Given the description of an element on the screen output the (x, y) to click on. 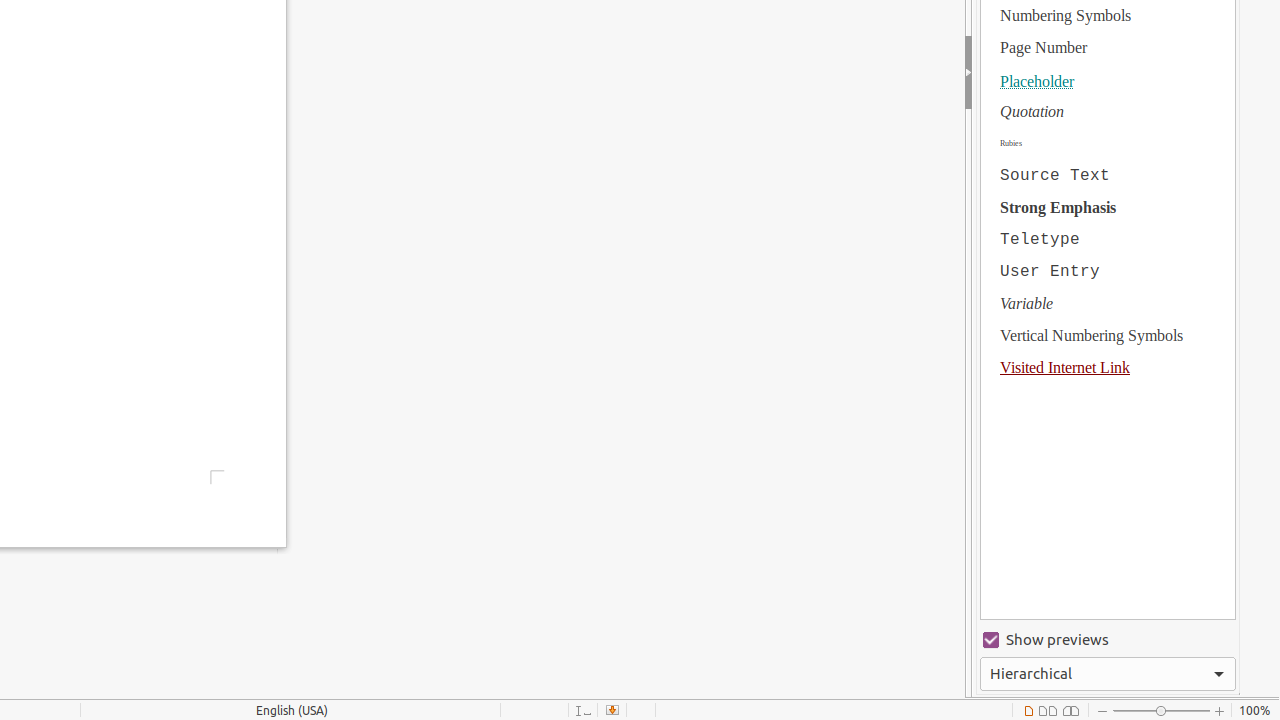
Show previews Element type: check-box (1108, 640)
